Given the description of an element on the screen output the (x, y) to click on. 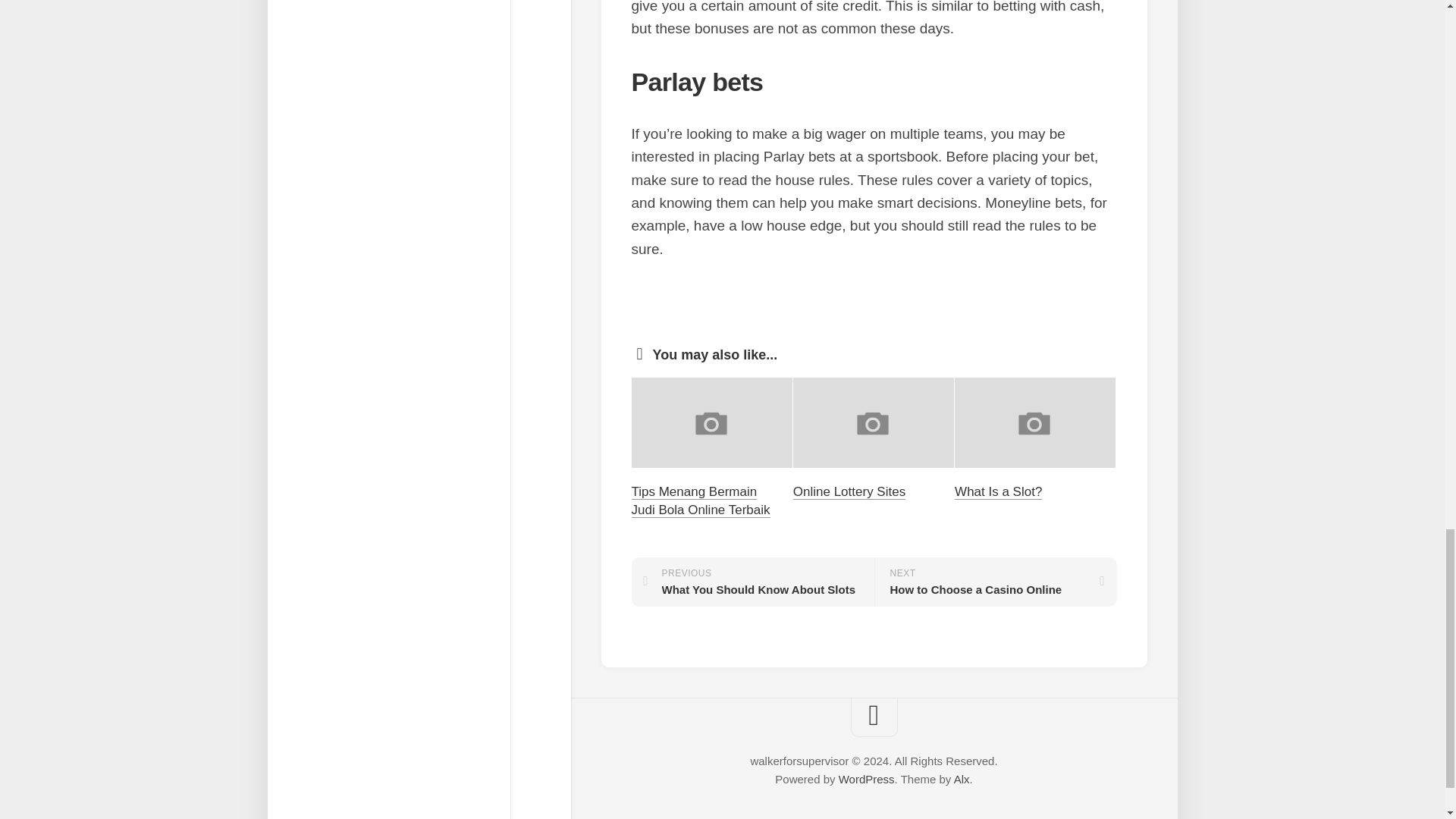
What Is a Slot? (994, 581)
Tips Menang Bermain Judi Bola Online Terbaik (998, 491)
WordPress (700, 500)
Online Lottery Sites (866, 779)
Alx (849, 491)
